Given the description of an element on the screen output the (x, y) to click on. 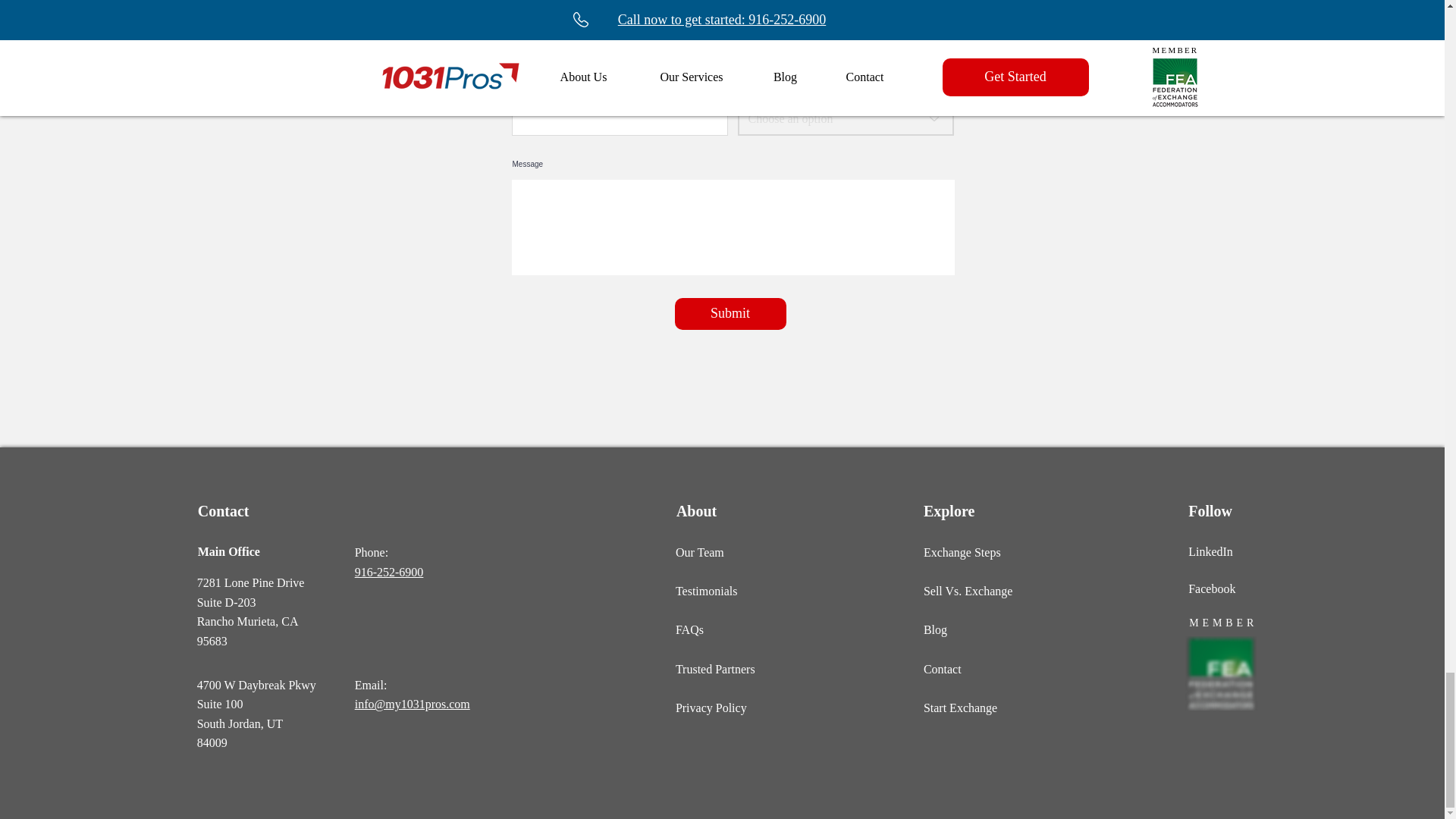
FAQs (689, 629)
4700 W Daybreak Pkwy (255, 684)
Testimonials (706, 590)
Our Team (699, 552)
Submit (250, 592)
916-252-6900 (730, 314)
Trusted Partners (389, 571)
